Given the description of an element on the screen output the (x, y) to click on. 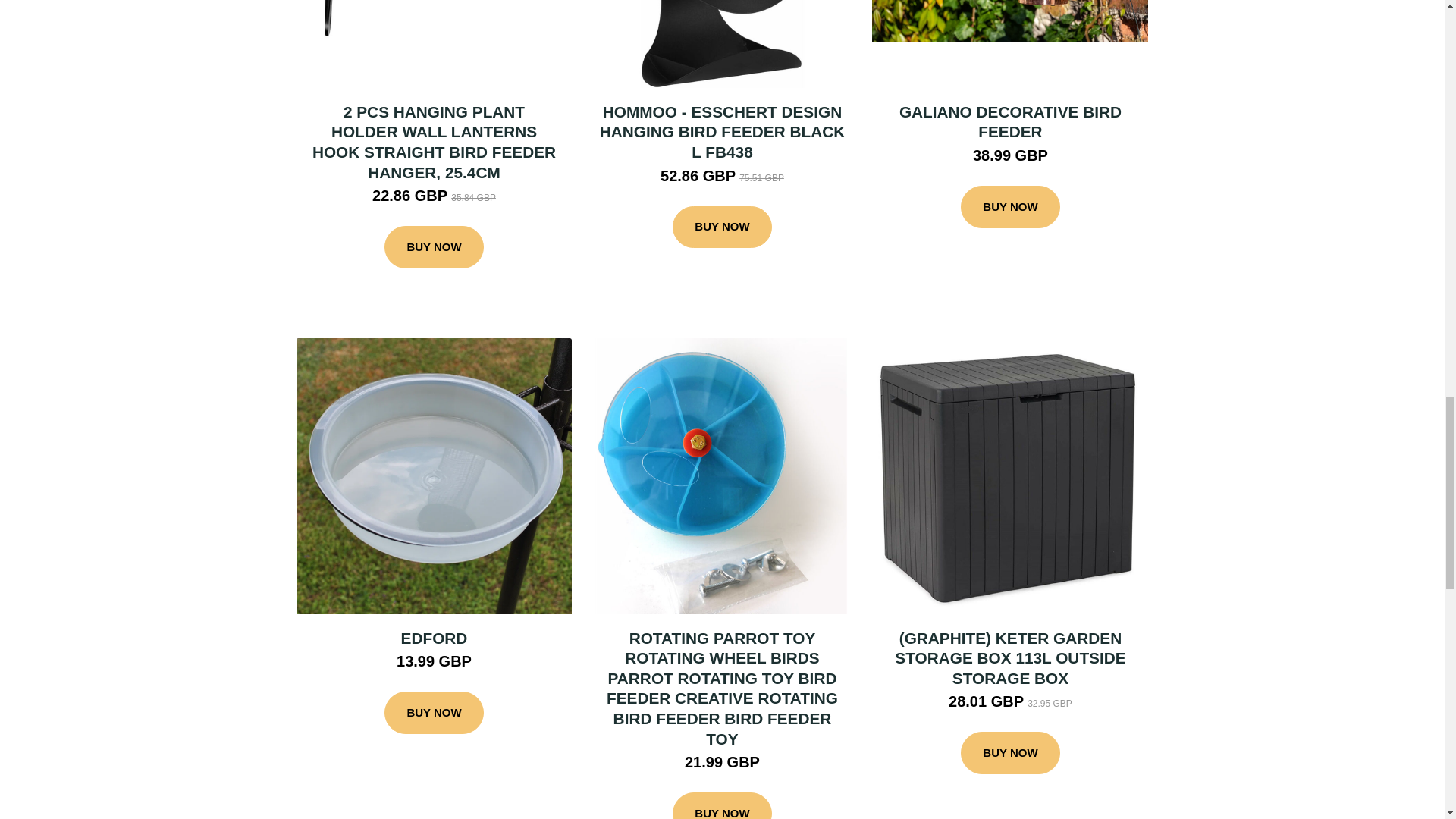
BUY NOW (721, 227)
BUY NOW (1009, 206)
EDFORD (434, 638)
BUY NOW (721, 805)
HOMMOO - ESSCHERT DESIGN HANGING BIRD FEEDER BLACK L FB438 (722, 131)
BUY NOW (433, 712)
GALIANO DECORATIVE BIRD FEEDER (1010, 121)
BUY NOW (433, 247)
